Given the description of an element on the screen output the (x, y) to click on. 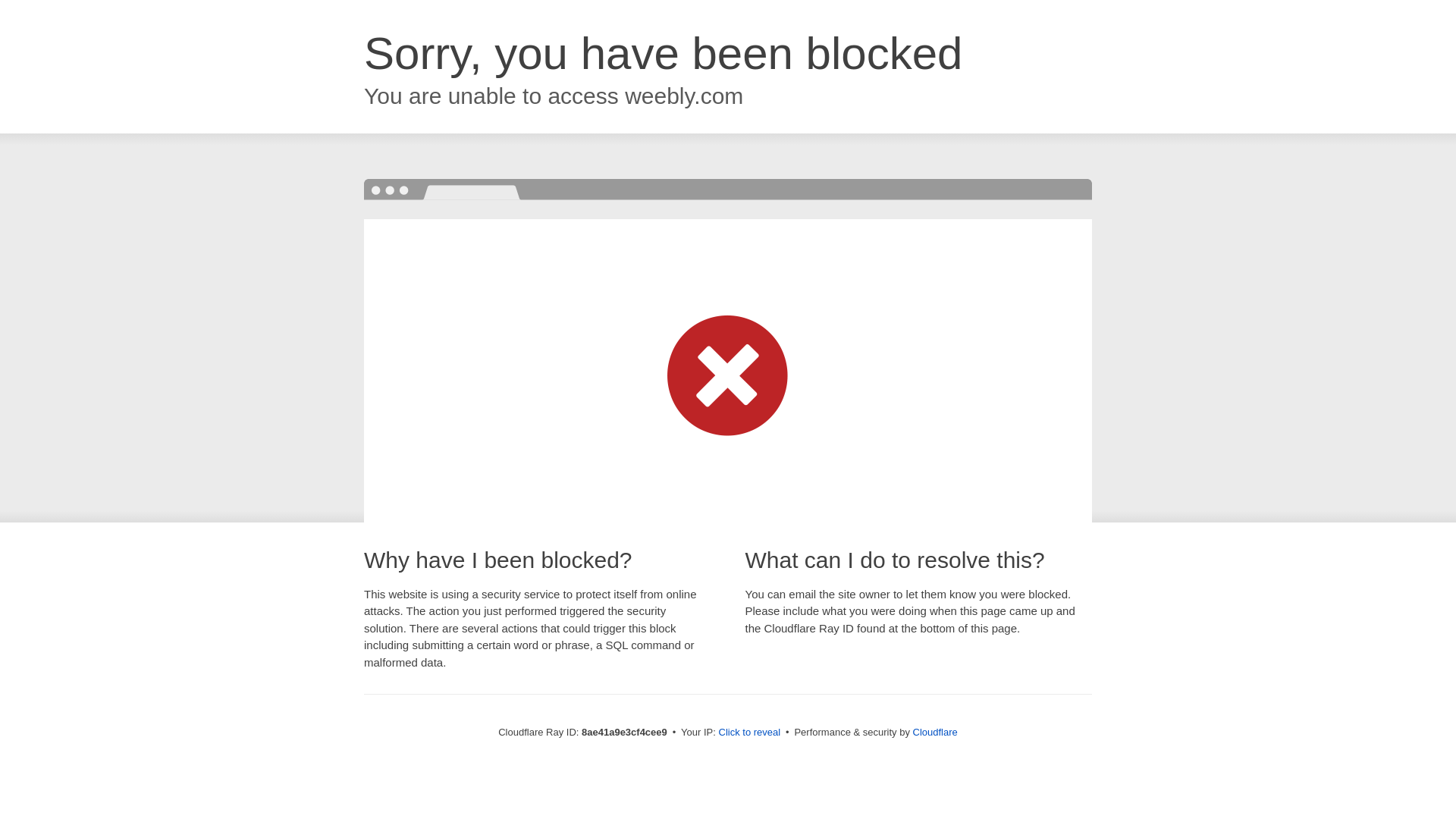
Cloudflare (935, 731)
Click to reveal (749, 732)
